Given the description of an element on the screen output the (x, y) to click on. 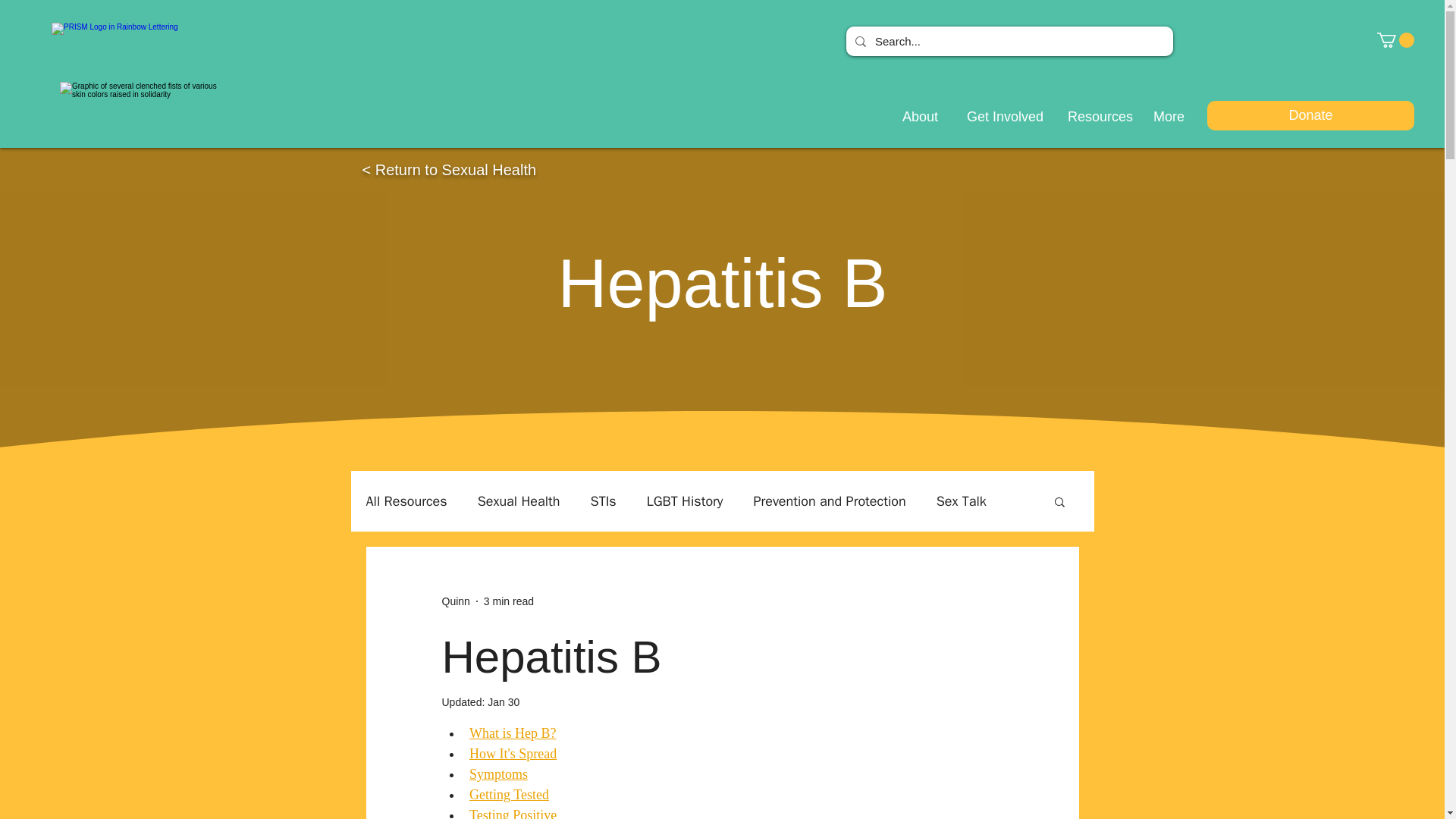
Quinn (454, 600)
Get Involved (997, 116)
STIs (603, 501)
Sex Talk (961, 501)
Jan 30 (503, 702)
About (915, 116)
Donate (1310, 115)
All Resources (405, 501)
Resources (1095, 116)
3 min read (508, 600)
